Given the description of an element on the screen output the (x, y) to click on. 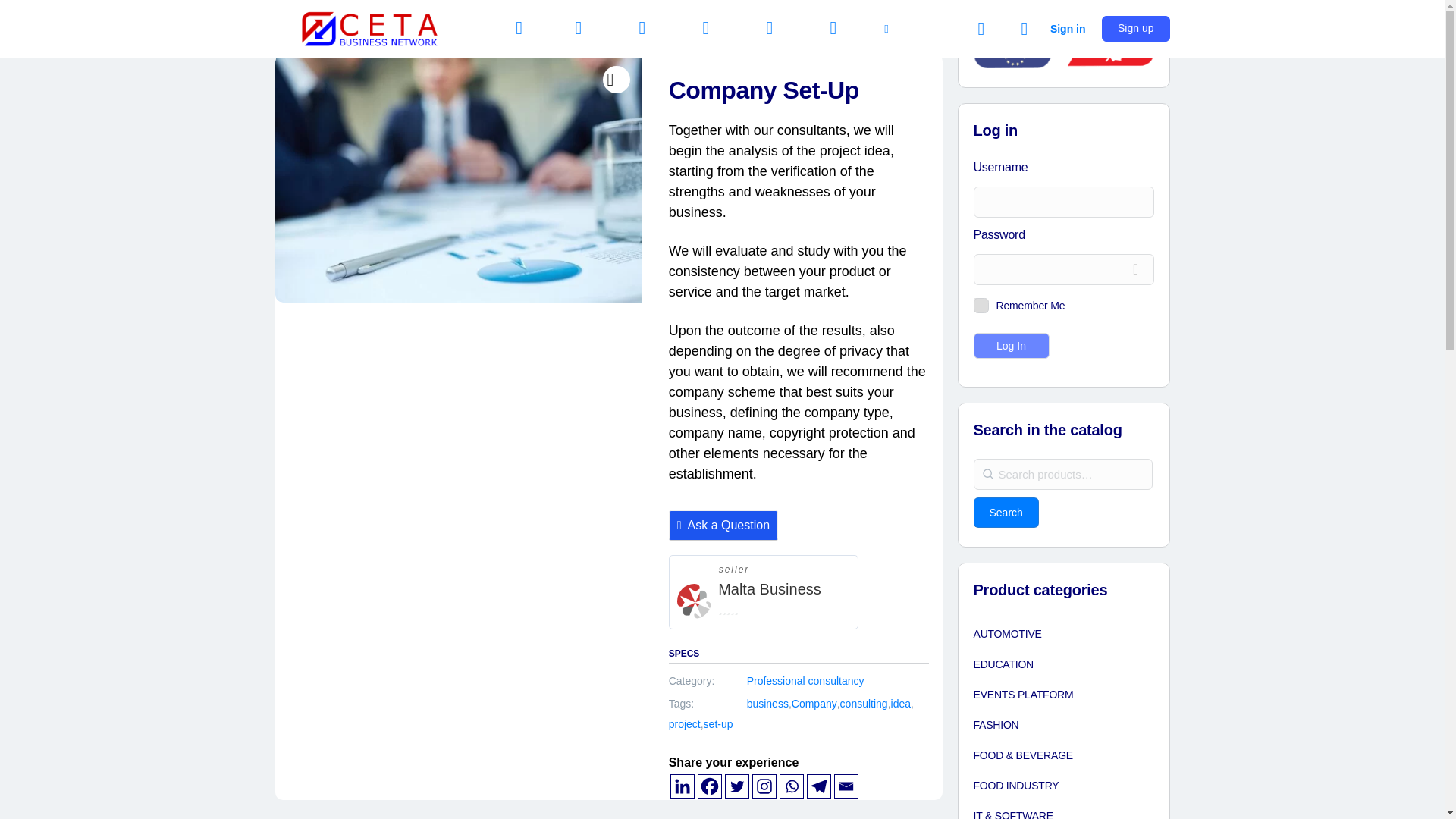
forever (979, 302)
Email (846, 785)
Sign in (1067, 28)
Sign up (1135, 28)
Whatsapp (790, 785)
Linkedin (681, 785)
Twitter (737, 785)
No reviews yet! (753, 608)
Instagram (764, 785)
Facebook (709, 785)
Telegram (818, 785)
Log In (1011, 345)
